Given the description of an element on the screen output the (x, y) to click on. 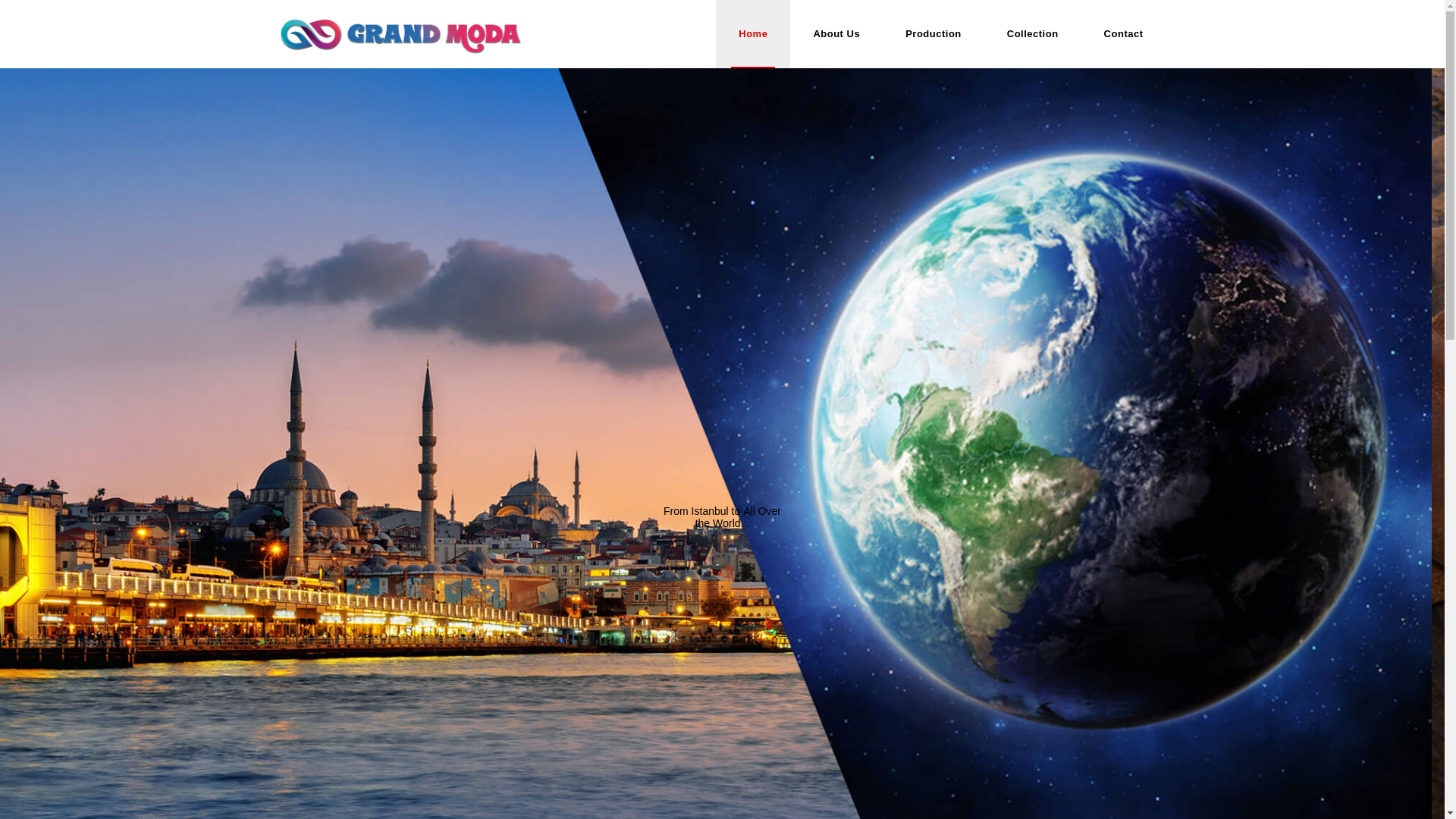
Production (933, 33)
Grand Moda Shoes (400, 33)
About Us (836, 33)
Collection (1031, 33)
Grand Moda Shoes (400, 33)
